Given the description of an element on the screen output the (x, y) to click on. 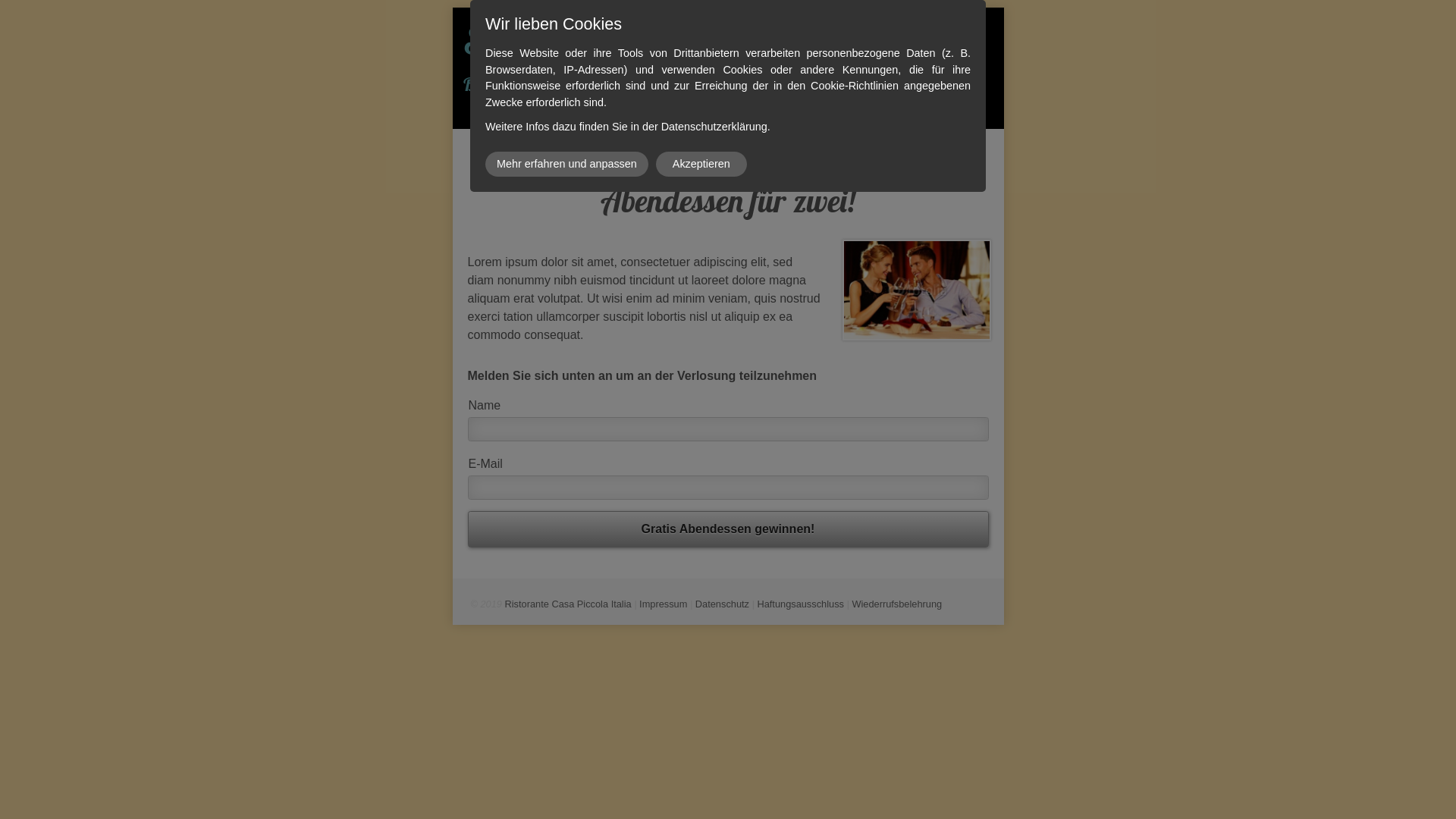
Ristorante Casa Piccola Italia Element type: text (568, 603)
Swiss Restaurant Element type: text (590, 38)
Haftungsausschluss Element type: text (800, 603)
Wiederrufsbelehrung Element type: text (896, 603)
Akzeptieren Element type: text (700, 163)
Datenschutz Element type: text (722, 603)
Mehr erfahren und anpassen Element type: text (566, 163)
Impressum Element type: text (663, 603)
Gratis Abendessen gewinnen! Element type: text (727, 529)
